Given the description of an element on the screen output the (x, y) to click on. 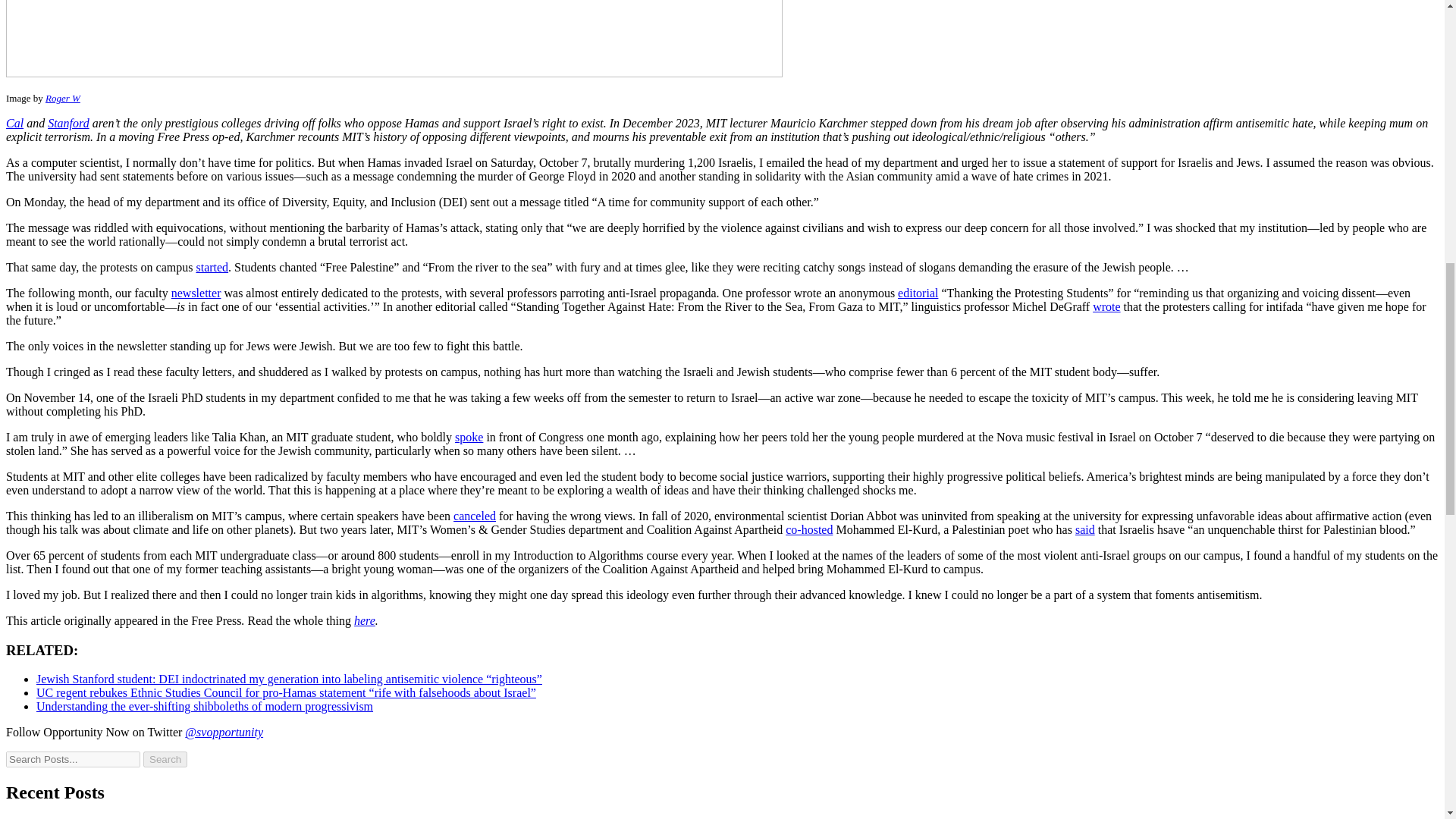
Search (72, 759)
wrote (1106, 306)
editorial (917, 292)
Stanford (68, 123)
co-hosted (809, 529)
Search (164, 759)
newsletter (196, 292)
spoke (468, 436)
Roger W (62, 98)
canceled (474, 515)
started (211, 267)
Cal (14, 123)
here (364, 620)
said (1084, 529)
